Given the description of an element on the screen output the (x, y) to click on. 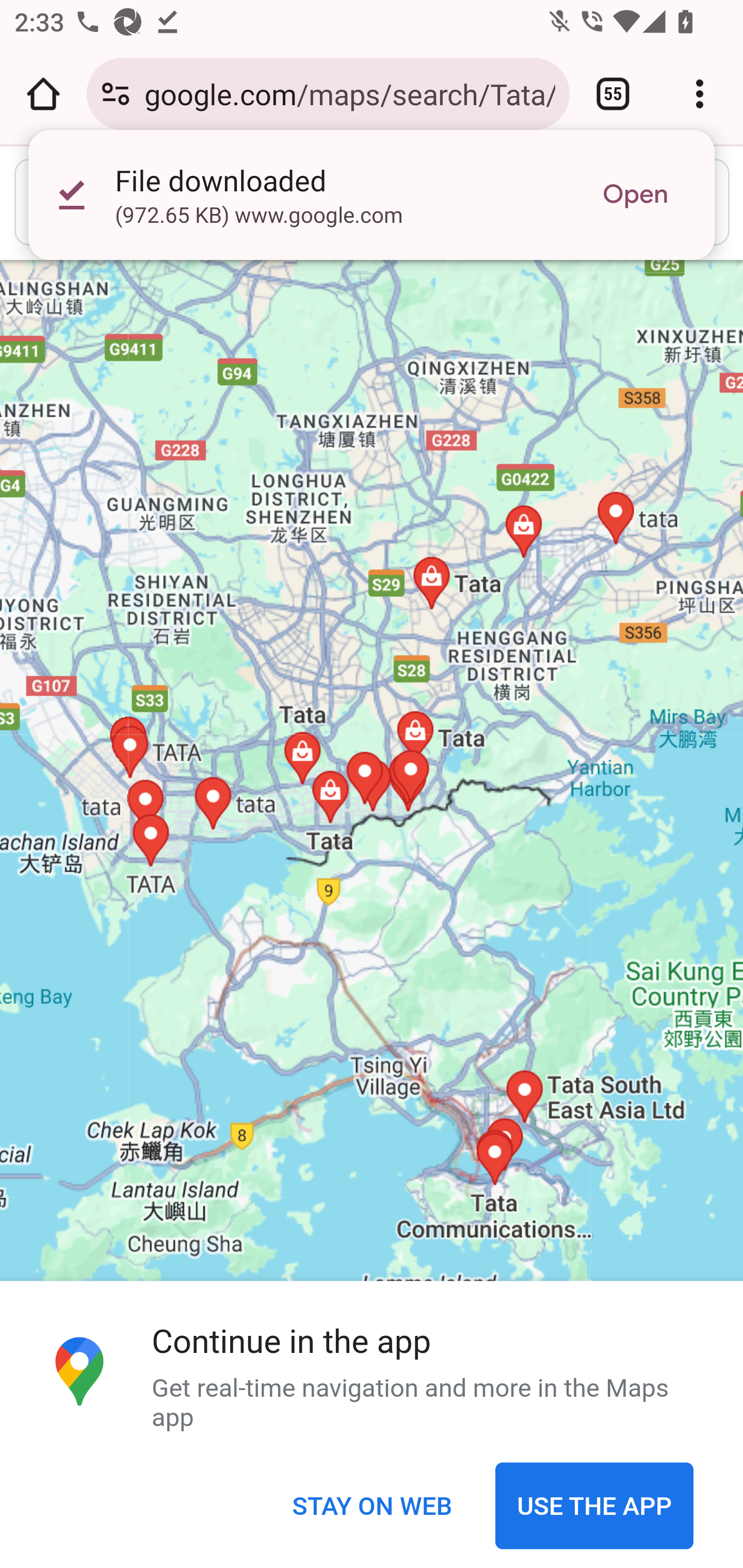
Open the home page (43, 93)
Connection is secure (115, 93)
Switch or close tabs (612, 93)
Customize and control Google Chrome (699, 93)
Open (634, 195)
STAY ON WEB (371, 1506)
USE THE APP (594, 1506)
